Given the description of an element on the screen output the (x, y) to click on. 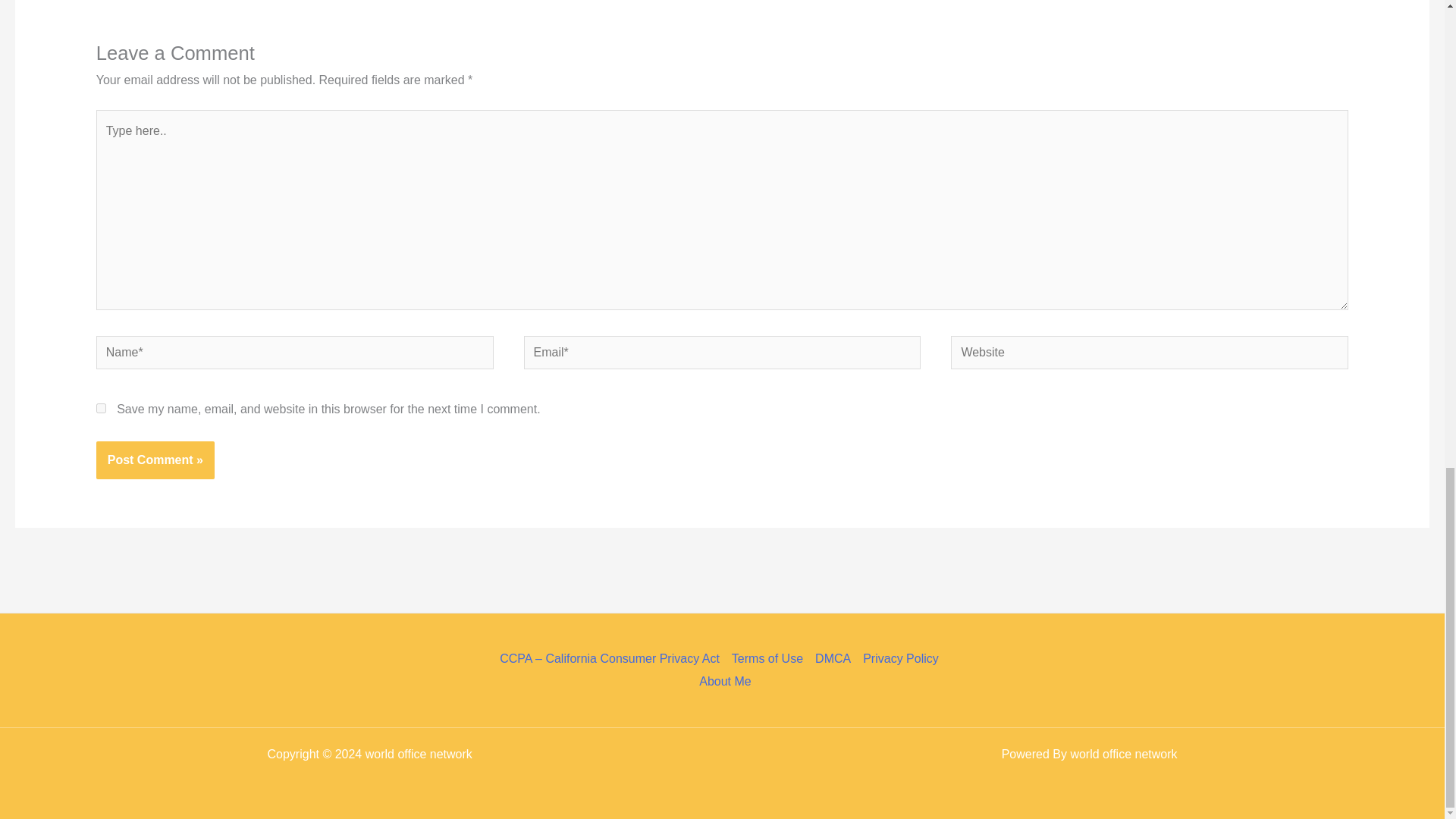
About Me (722, 681)
Privacy Policy (900, 658)
DMCA (833, 658)
Terms of Use (767, 658)
yes (101, 408)
